Given the description of an element on the screen output the (x, y) to click on. 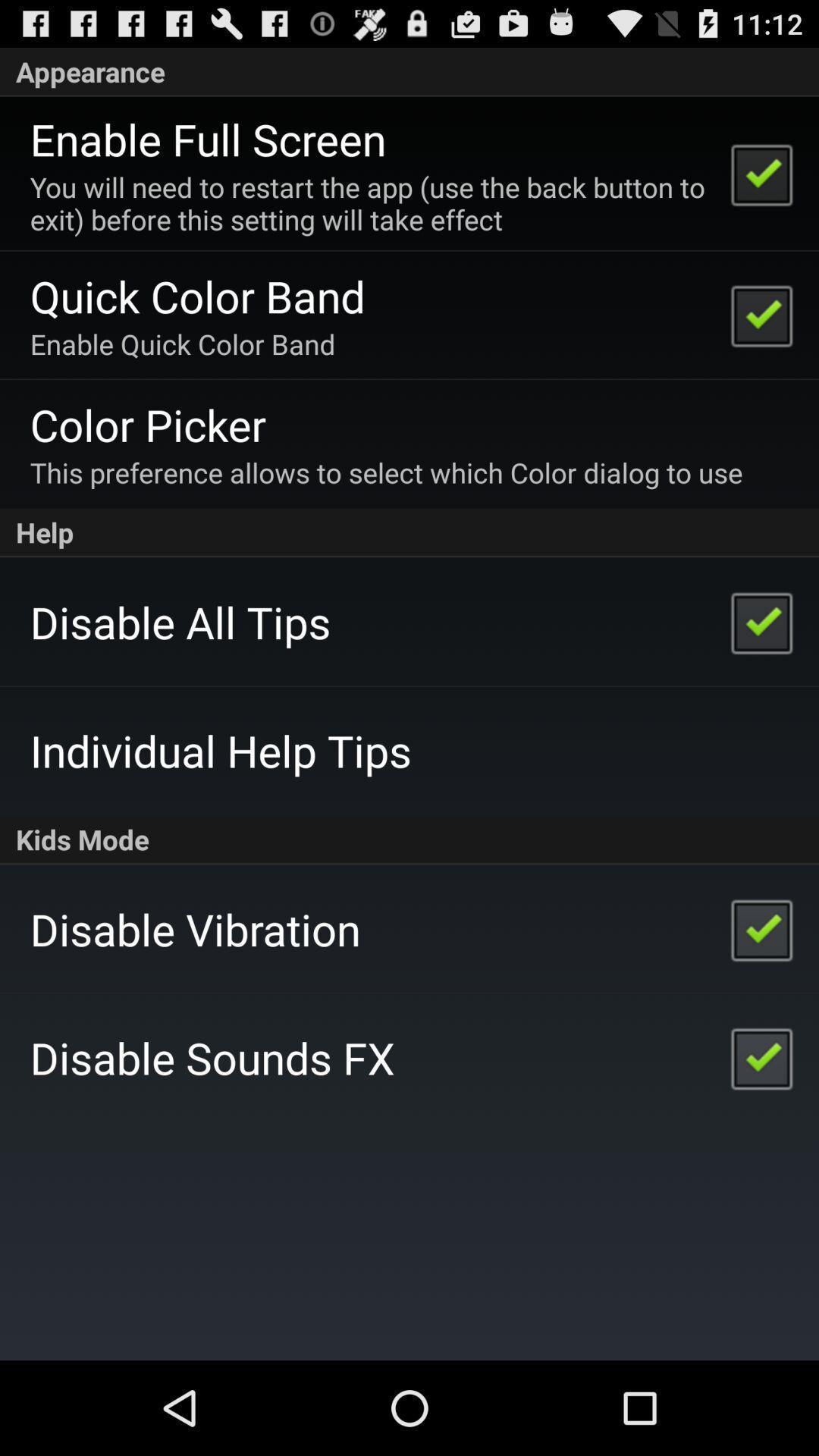
open item below the enable quick color icon (148, 424)
